Given the description of an element on the screen output the (x, y) to click on. 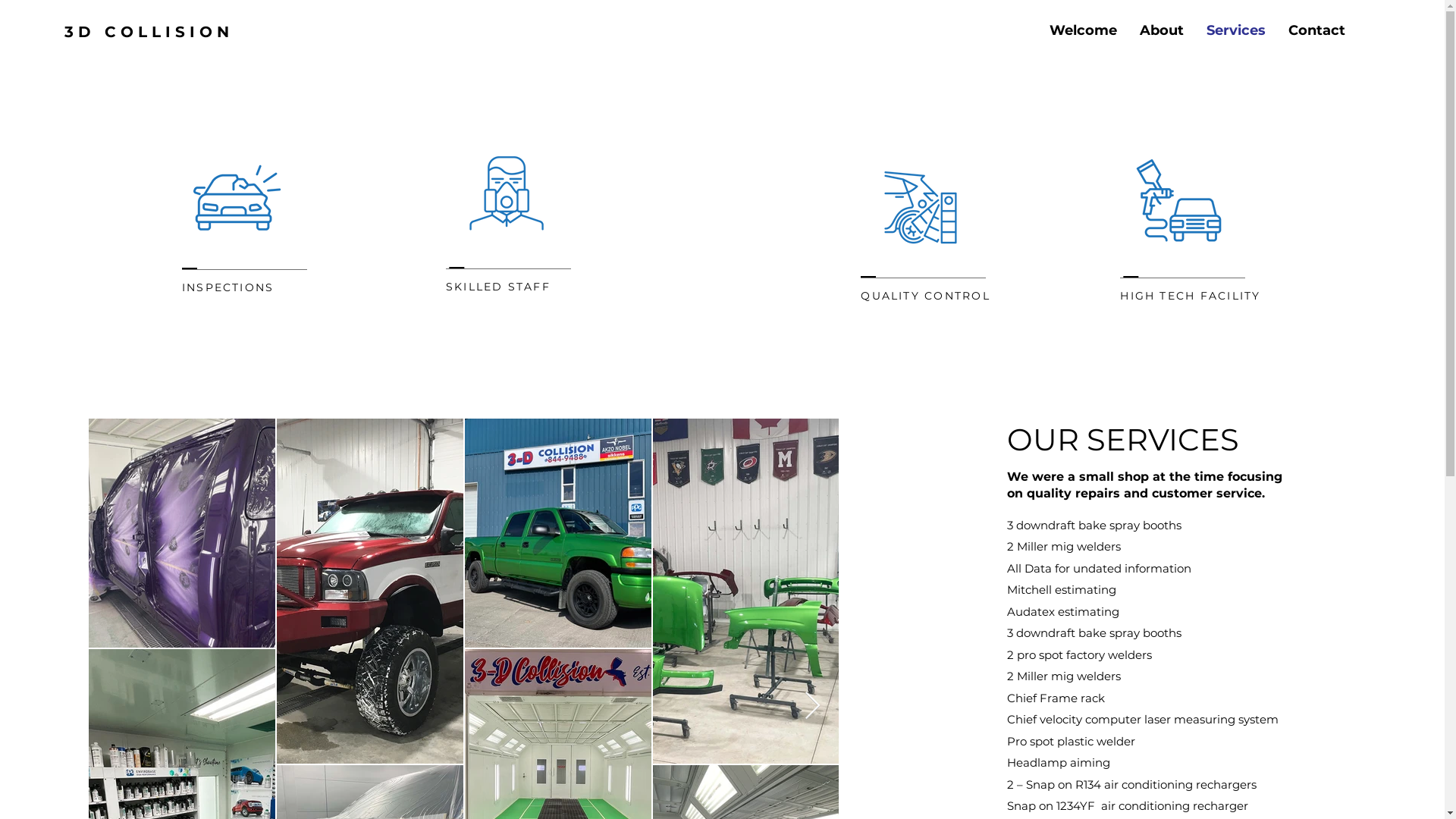
Services Element type: text (1236, 30)
Contact Element type: text (1316, 30)
3D COLLISION Element type: text (148, 31)
About Element type: text (1161, 30)
Welcome Element type: text (1083, 30)
